Given the description of an element on the screen output the (x, y) to click on. 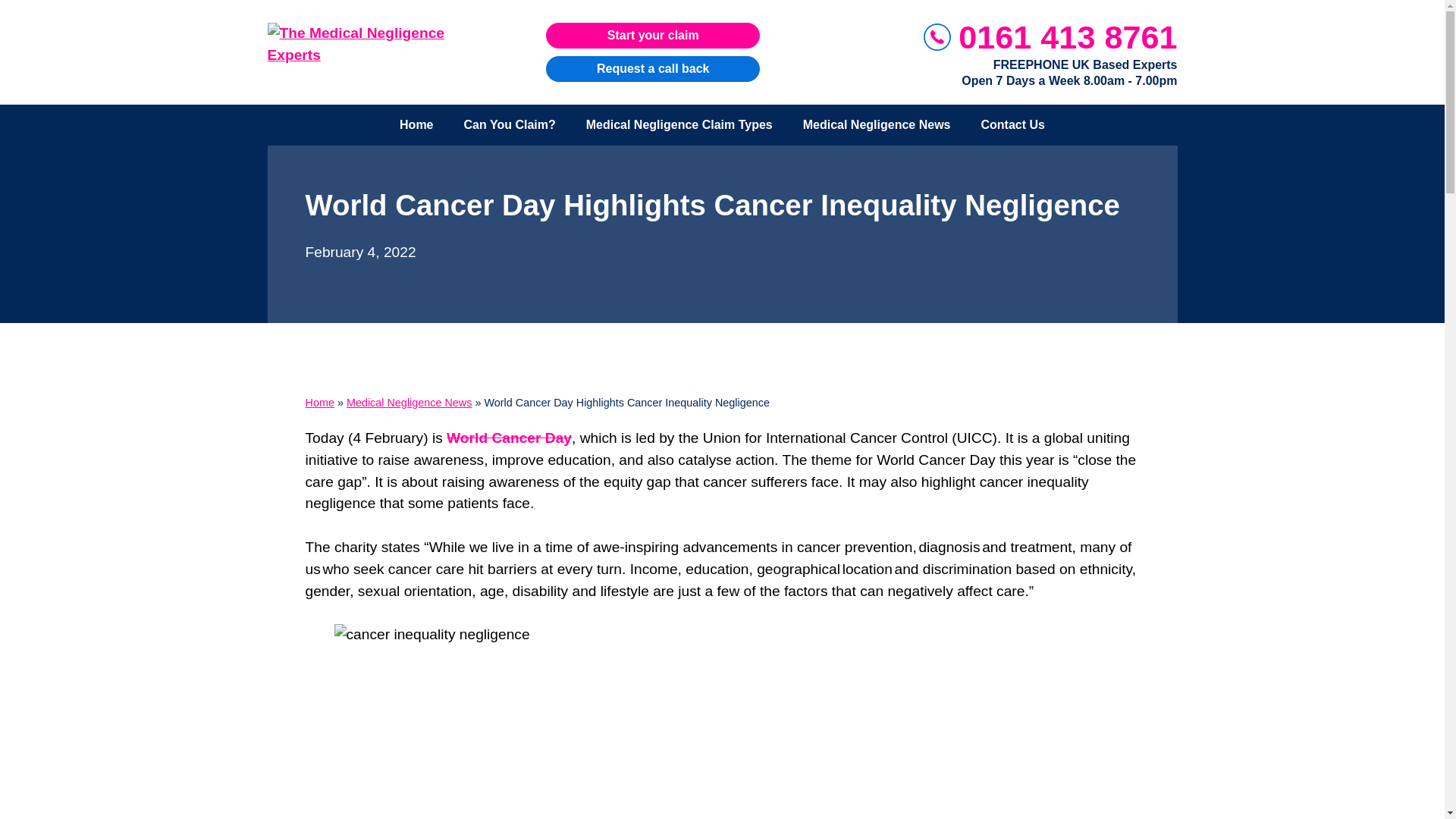
Can You Claim? (509, 125)
Start your claim (653, 35)
Home (416, 125)
Medical Negligence Claim Types (678, 125)
0161 413 8761 (1067, 37)
Request a call back (653, 68)
